Given the description of an element on the screen output the (x, y) to click on. 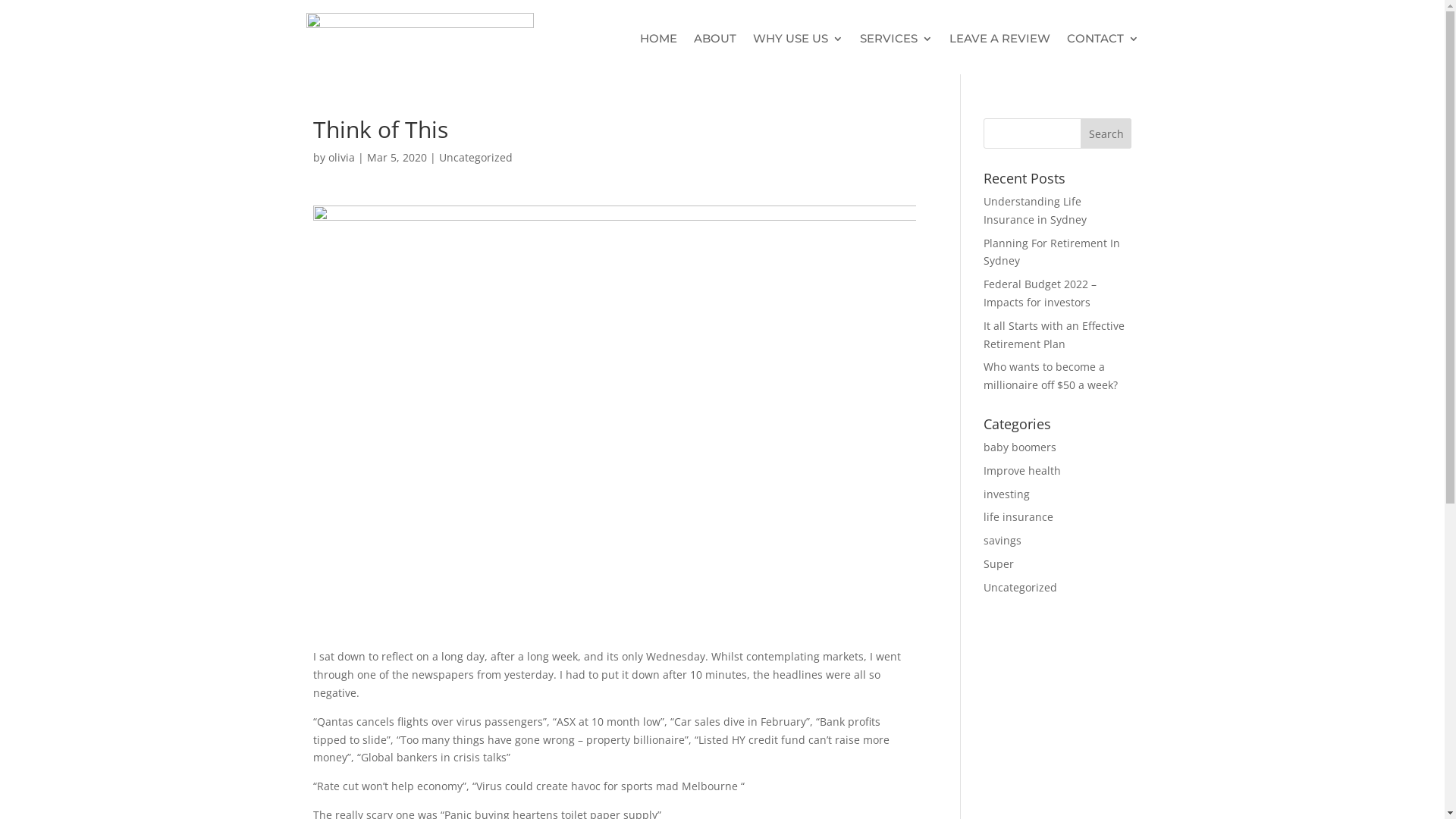
Super Element type: text (998, 563)
SERVICES Element type: text (895, 38)
Uncategorized Element type: text (1020, 587)
HOME Element type: text (658, 38)
ABOUT Element type: text (714, 38)
CONTACT Element type: text (1102, 38)
Who wants to become a millionaire off $50 a week? Element type: text (1050, 375)
Search Element type: text (1106, 133)
Uncategorized Element type: text (474, 157)
olivia Element type: text (340, 157)
It all Starts with an Effective Retirement Plan Element type: text (1053, 334)
Planning For Retirement In Sydney Element type: text (1051, 251)
Improve health Element type: text (1021, 470)
baby boomers Element type: text (1019, 446)
Understanding Life Insurance in Sydney Element type: text (1034, 210)
WHY USE US Element type: text (797, 38)
life insurance Element type: text (1018, 516)
investing Element type: text (1006, 493)
LEAVE A REVIEW Element type: text (999, 38)
savings Element type: text (1002, 540)
